Given the description of an element on the screen output the (x, y) to click on. 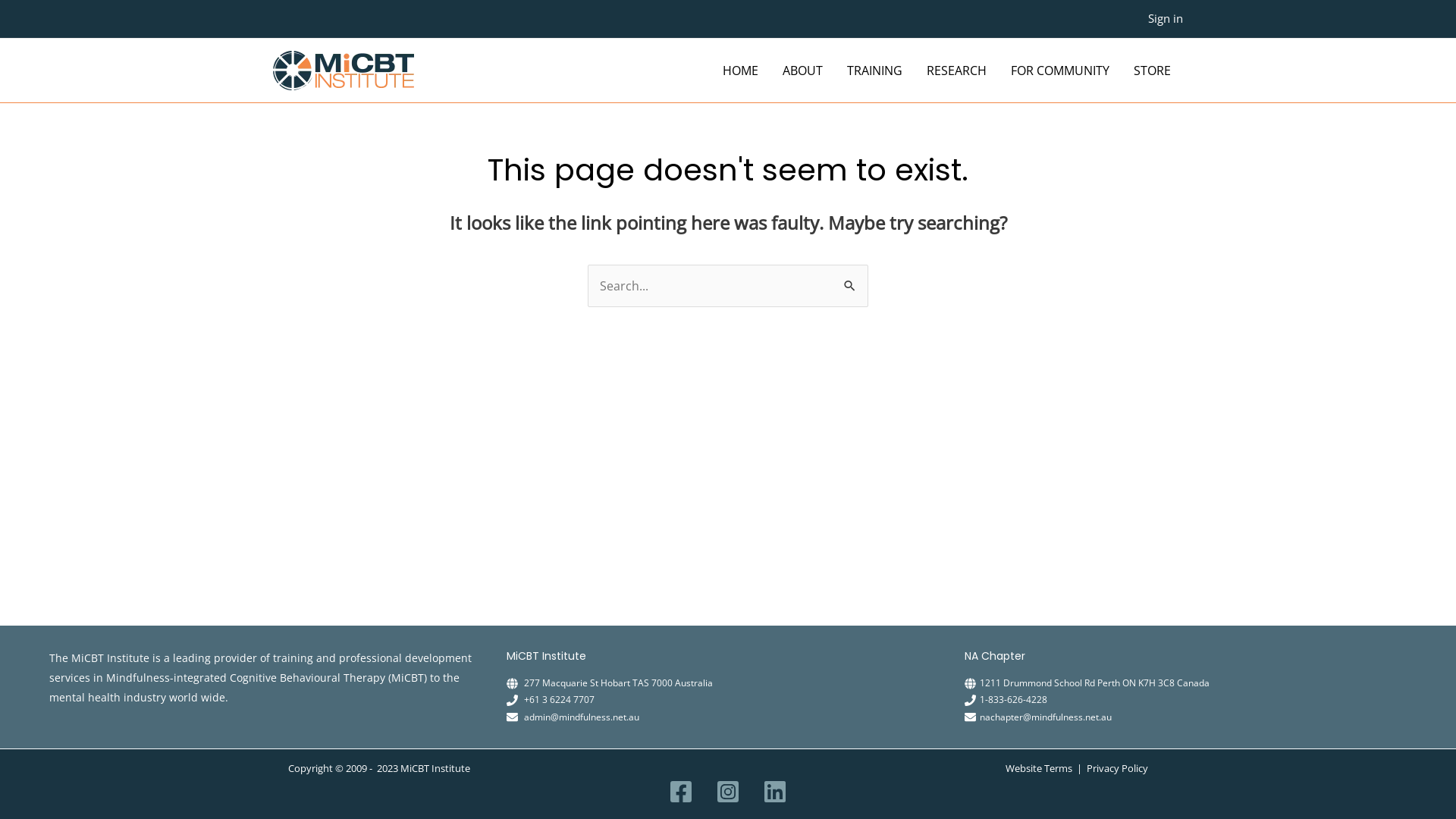
nachapter@mindfulness.net.au Element type: text (1045, 716)
HOME Element type: text (740, 70)
Website Terms  |   Element type: text (1045, 768)
FOR COMMUNITY Element type: text (1059, 70)
Search Element type: text (851, 280)
1-833-626-4228 Element type: text (1013, 699)
RESEARCH Element type: text (956, 70)
TRAINING Element type: text (874, 70)
ABOUT Element type: text (802, 70)
STORE Element type: text (1152, 70)
admin@mindfulness.net.au Element type: text (581, 716)
+61 3 6224 7707 Element type: text (559, 699)
Privacy Policy Element type: text (1117, 768)
